Given the description of an element on the screen output the (x, y) to click on. 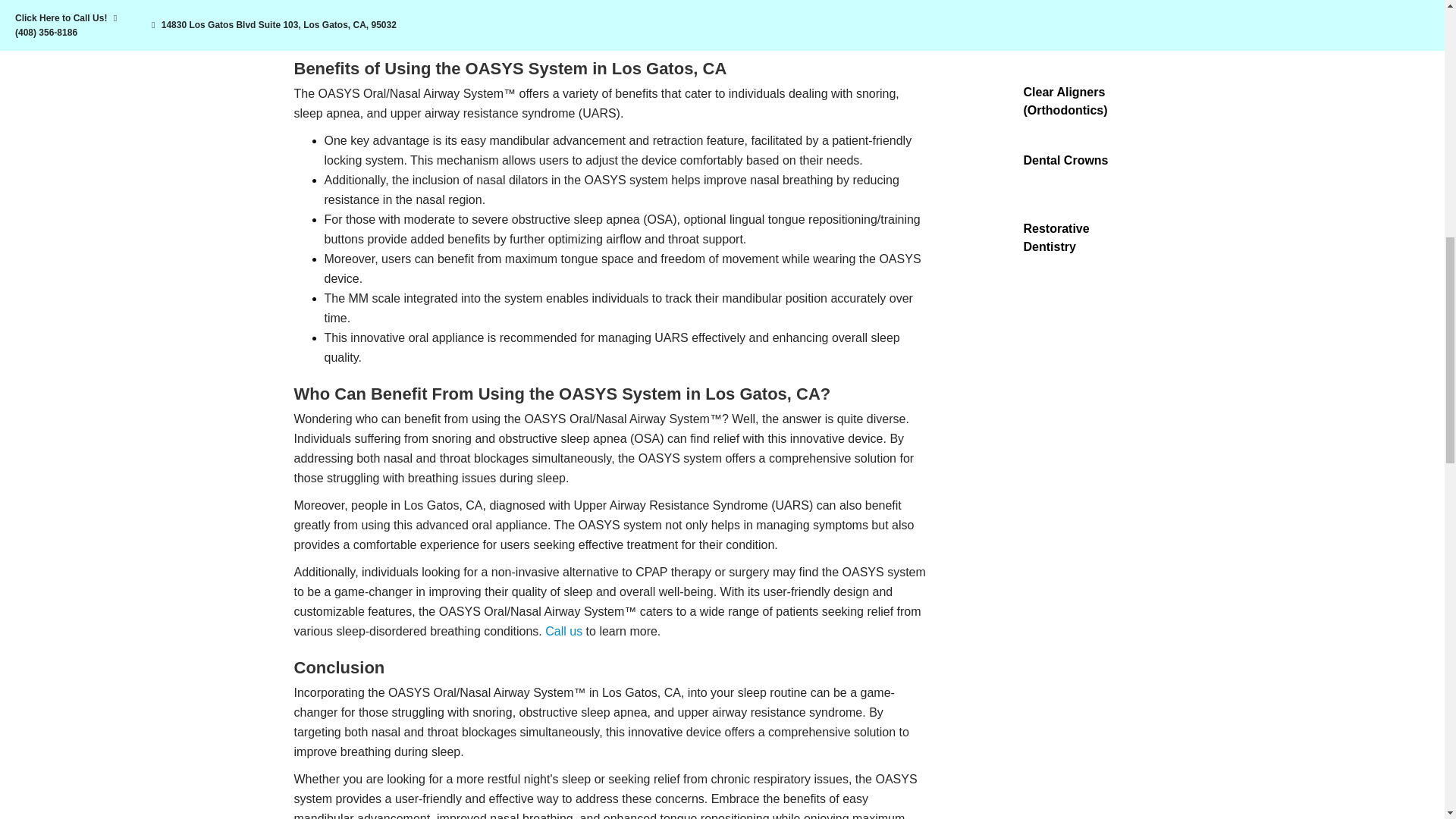
clear aligners in los gatos ca (987, 100)
dental fillings in los gatos ca (987, 31)
Restorative Dentistry in Los Gatos CA. (987, 236)
dental crowns in los gatos ca (987, 168)
